Given the description of an element on the screen output the (x, y) to click on. 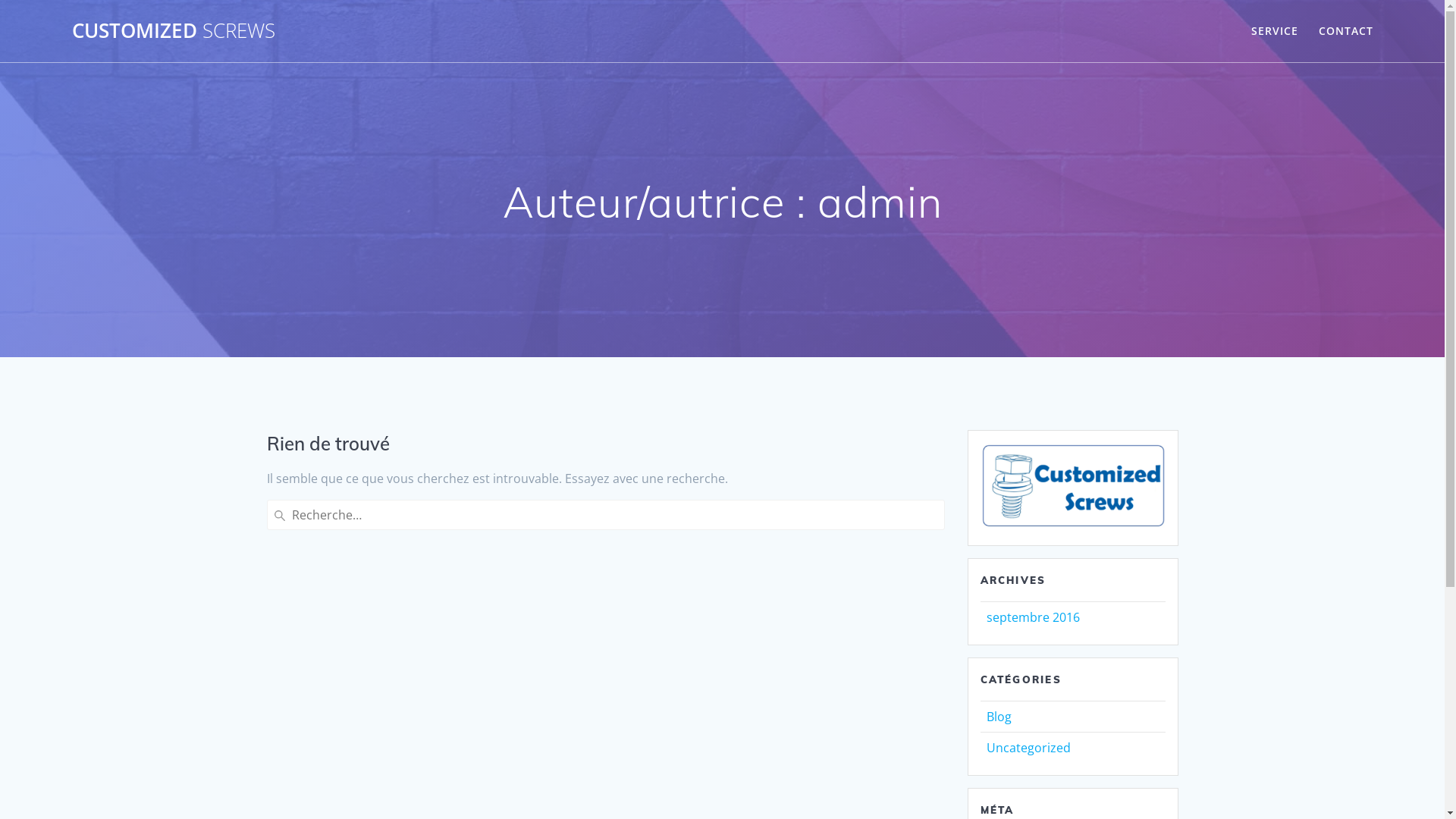
Blog Element type: text (997, 716)
SERVICE Element type: text (1274, 30)
CUSTOMIZED SCREWS Element type: text (173, 30)
CONTACT Element type: text (1345, 30)
Uncategorized Element type: text (1027, 747)
septembre 2016 Element type: text (1032, 616)
